Given the description of an element on the screen output the (x, y) to click on. 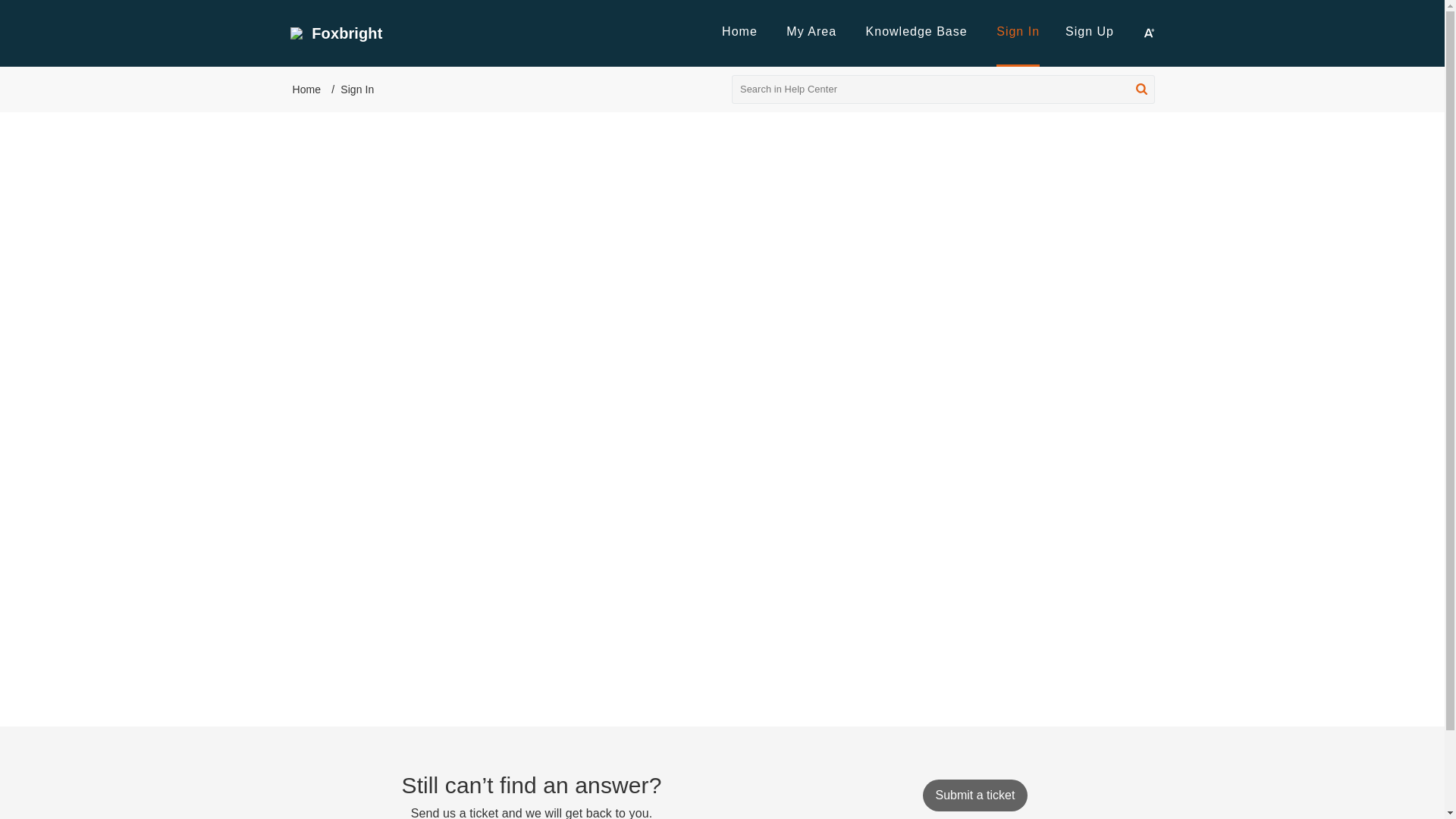
Home (306, 89)
Home (739, 31)
Sign Up (1089, 31)
Submit a ticket (974, 795)
Submit a ticket (974, 794)
Knowledge Base (917, 31)
Sign In (1017, 31)
My Area (810, 31)
Knowledge Base (917, 31)
Home (739, 31)
